Given the description of an element on the screen output the (x, y) to click on. 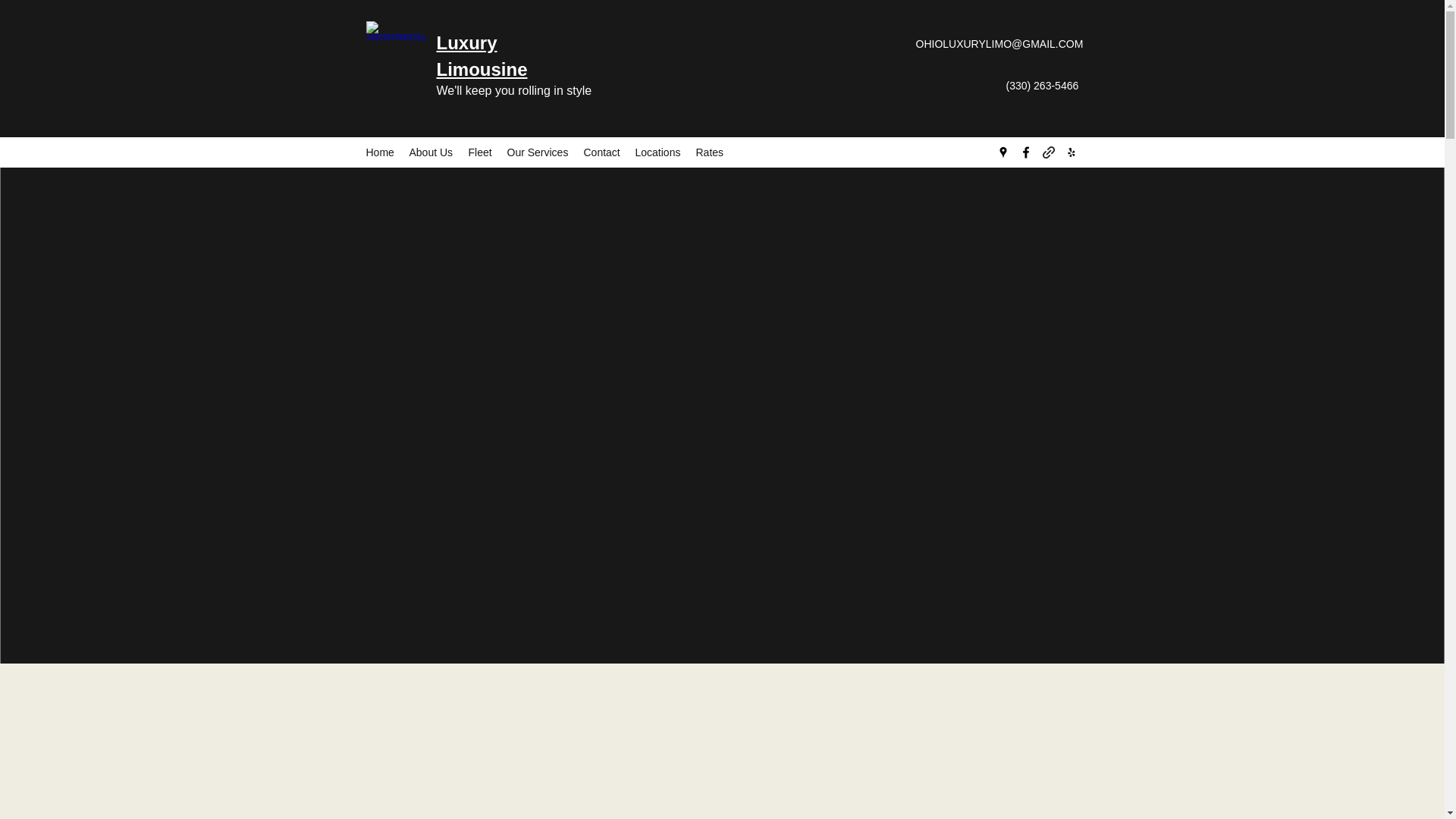
Fleet (480, 151)
Rates (710, 151)
Locations (657, 151)
About Us (431, 151)
Our Services (537, 151)
Contact (601, 151)
Home (379, 151)
